Given the description of an element on the screen output the (x, y) to click on. 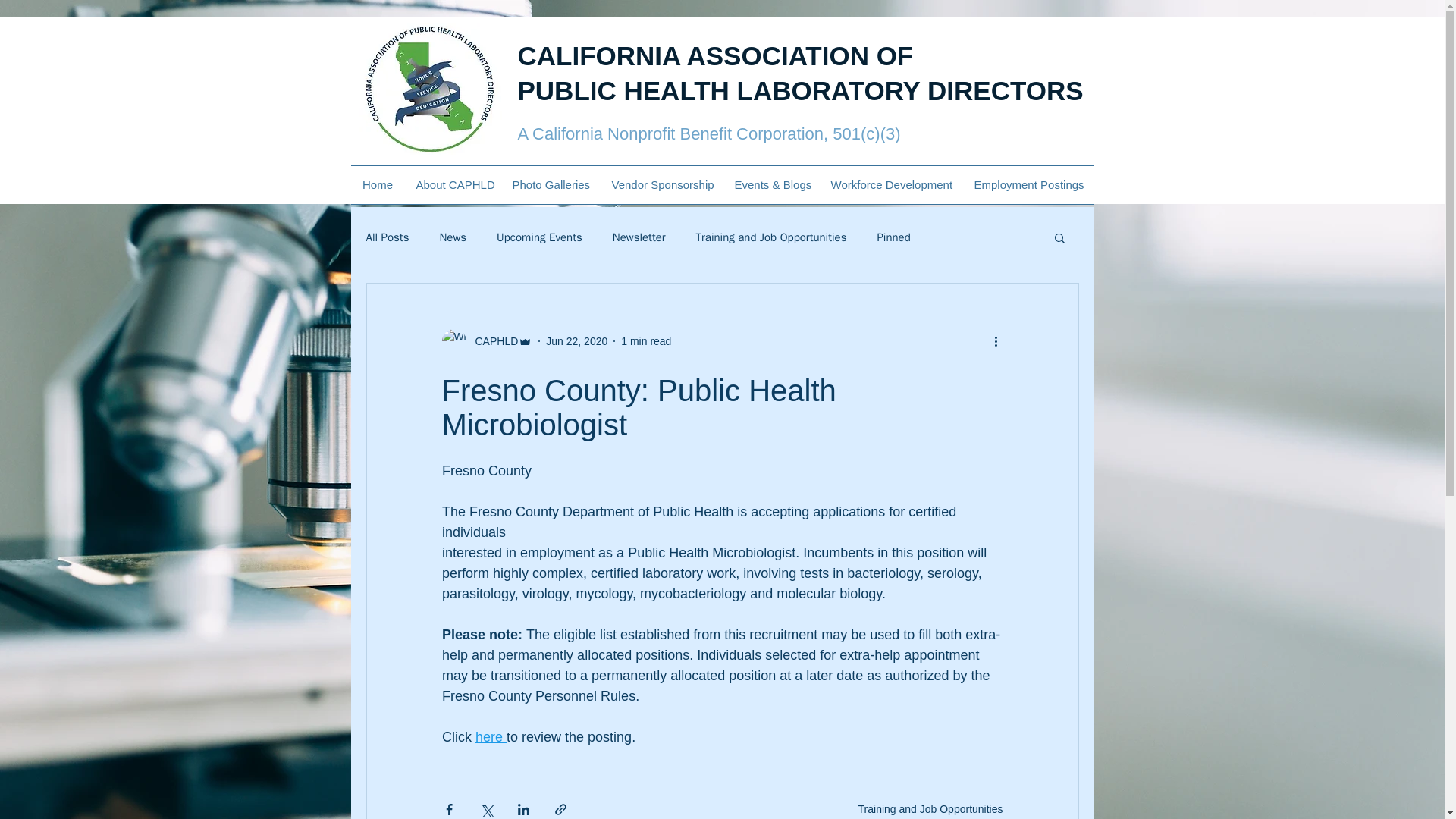
Vendor Sponsorship (661, 184)
Training and Job Opportunities (931, 808)
News (799, 72)
Photo Galleries (452, 237)
Newsletter (549, 184)
Home (638, 237)
Jun 22, 2020 (377, 184)
here  (576, 340)
1 min read (489, 736)
